Given the description of an element on the screen output the (x, y) to click on. 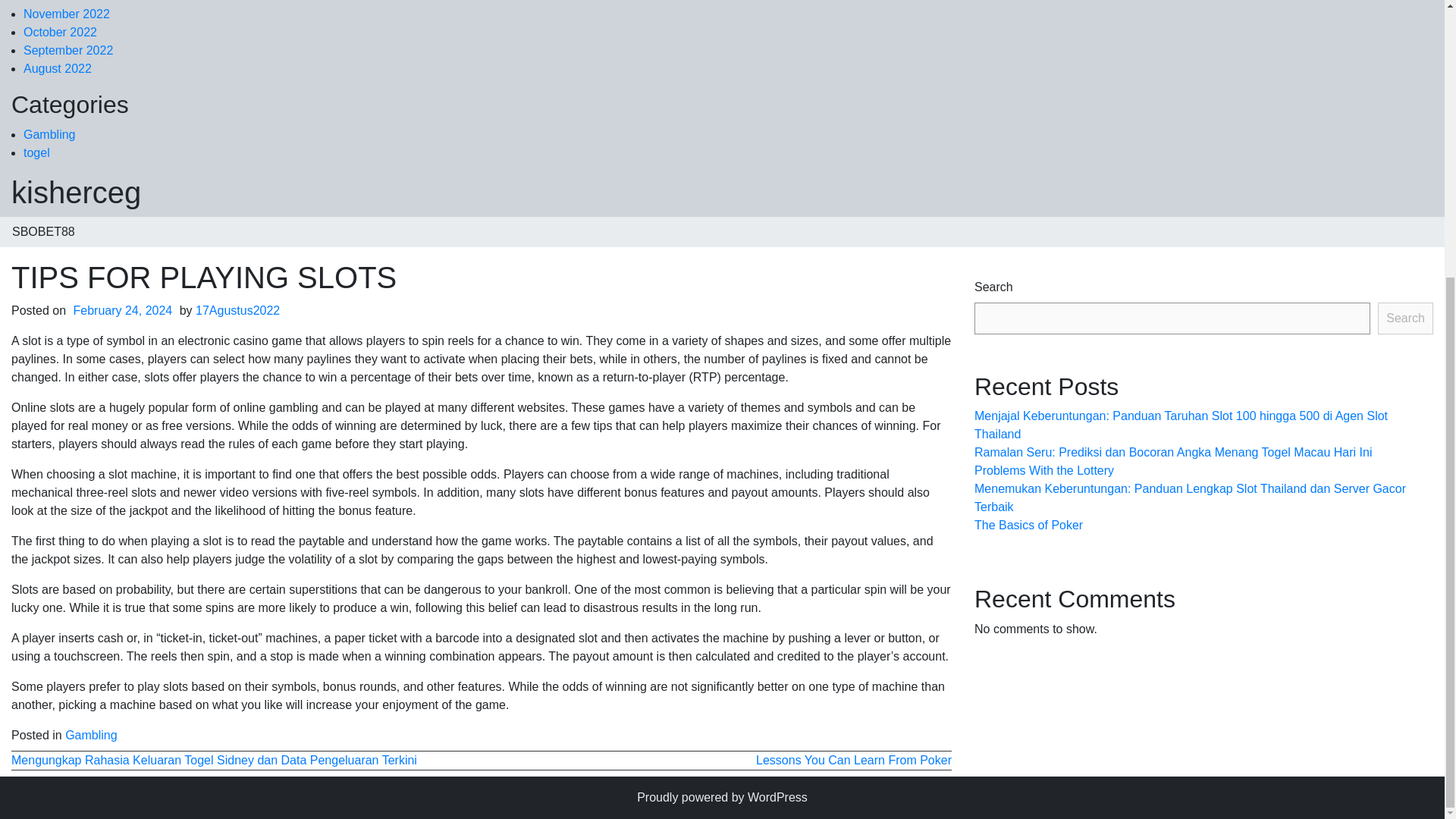
December 2022 (66, 1)
Gambling (90, 735)
August 2022 (57, 68)
Lessons You Can Learn From Poker (853, 759)
February 24, 2024 (122, 309)
October 2022 (60, 31)
Search (1404, 318)
17Agustus2022 (237, 309)
SBOBET88 (43, 232)
